Given the description of an element on the screen output the (x, y) to click on. 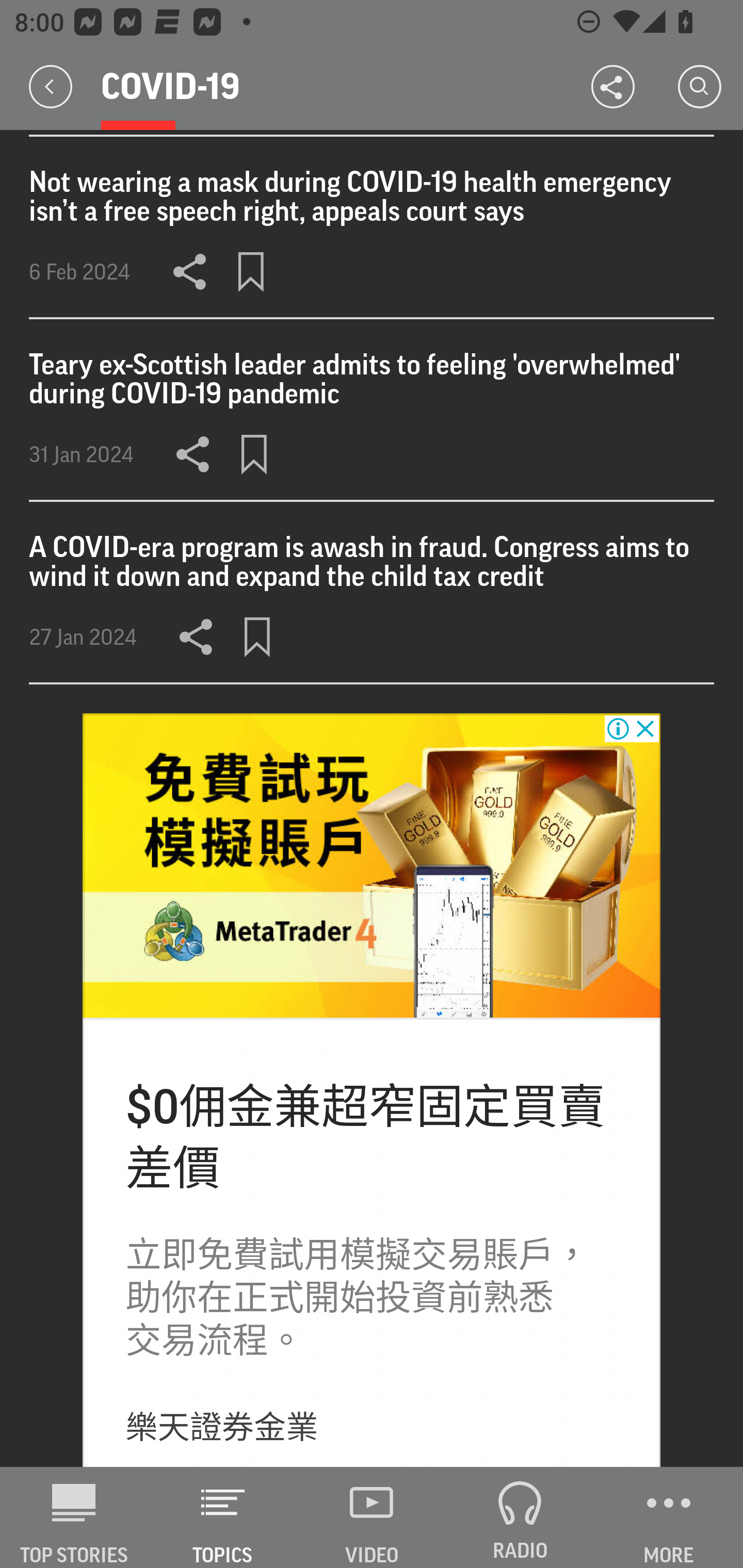
$0佣金兼超窄固定買賣 差價 $0佣金兼超窄固定買賣 差價 (365, 1137)
樂天證券金業 (221, 1427)
AP News TOP STORIES (74, 1517)
TOPICS (222, 1517)
VIDEO (371, 1517)
RADIO (519, 1517)
MORE (668, 1517)
